Given the description of an element on the screen output the (x, y) to click on. 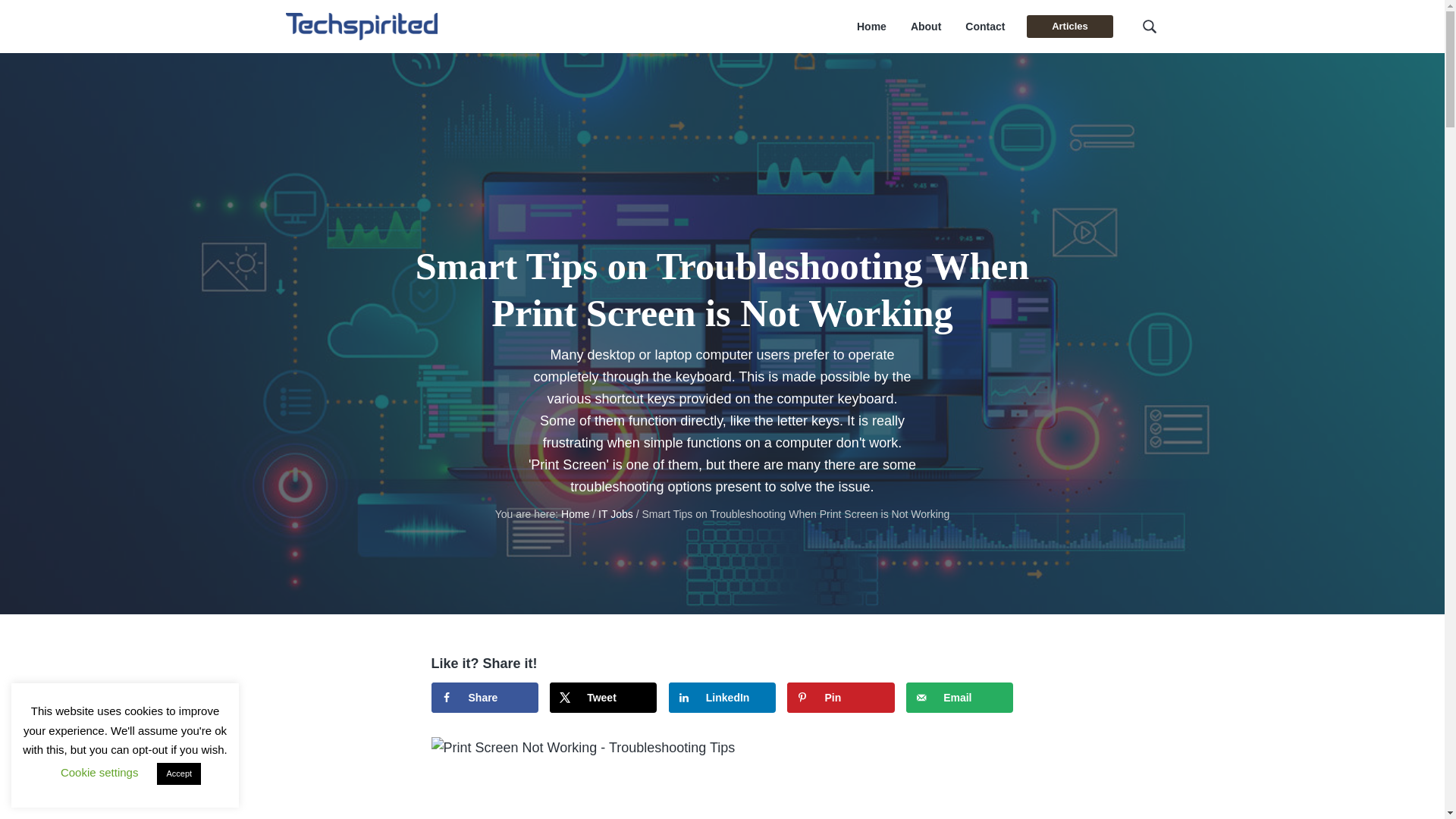
Share on X (603, 697)
Send over email (959, 697)
Home (871, 27)
About (925, 27)
IT Jobs (615, 513)
Email (959, 697)
Share on LinkedIn (722, 697)
Share on Facebook (483, 697)
Cookie settings (99, 771)
Tweet (603, 697)
Pin (840, 697)
Contact (984, 27)
Articles (1068, 25)
Save to Pinterest (840, 697)
